Given the description of an element on the screen output the (x, y) to click on. 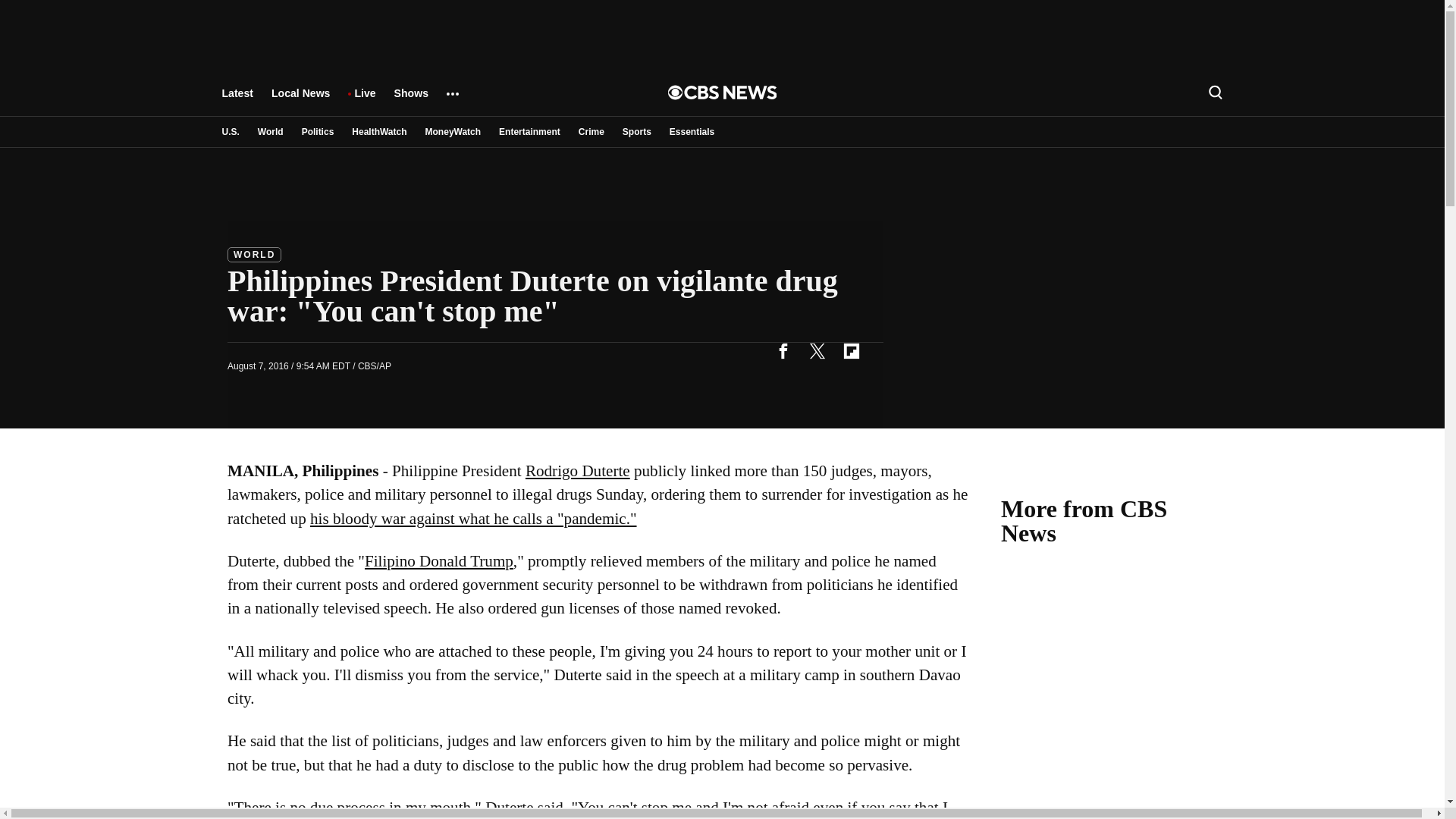
facebook (782, 350)
twitter (816, 350)
flipboard (850, 350)
Local News (300, 100)
Latest (236, 100)
